Given the description of an element on the screen output the (x, y) to click on. 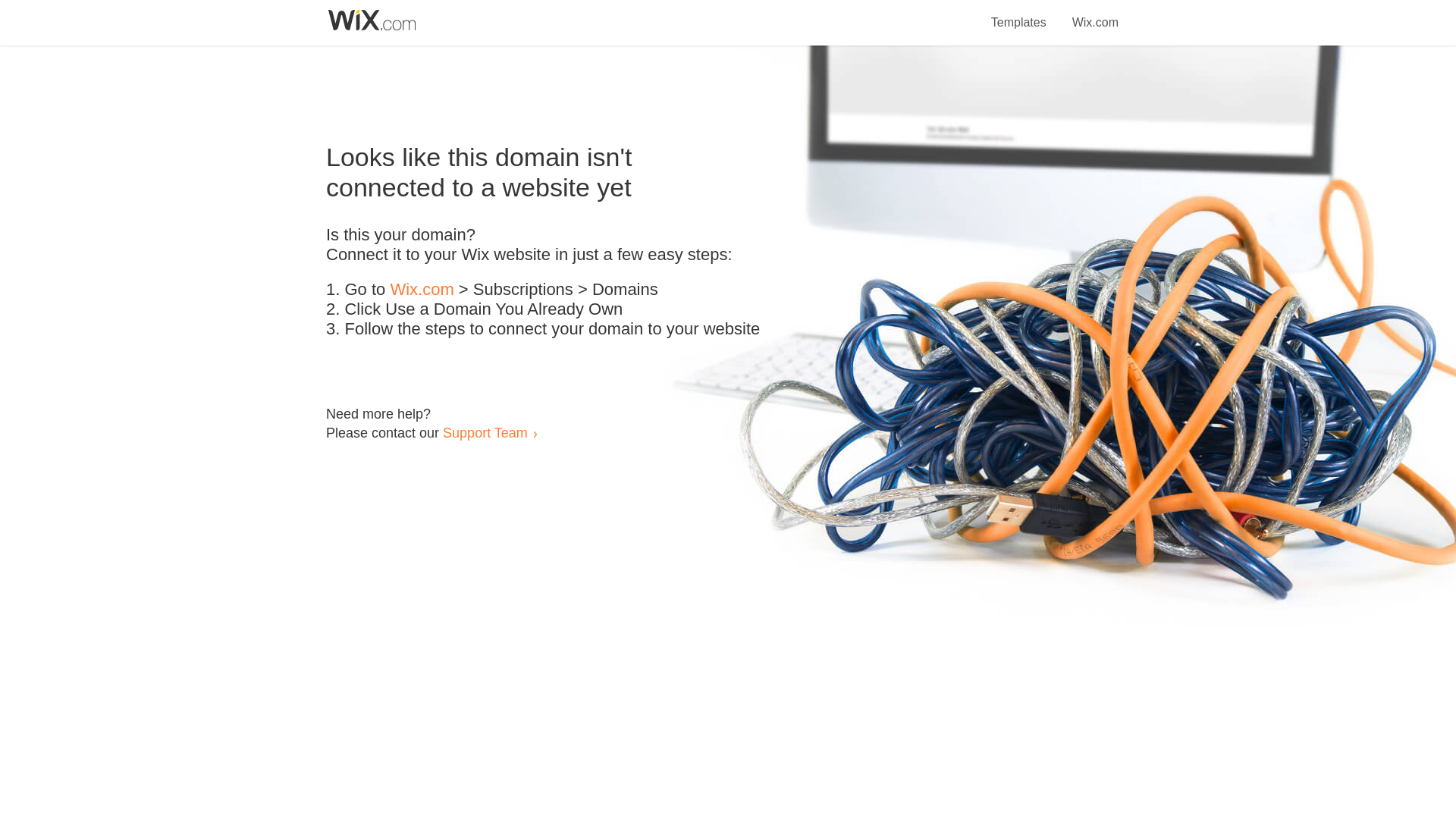
Wix.com (421, 289)
Wix.com (1095, 14)
Templates (1018, 14)
Support Team (484, 432)
